Given the description of an element on the screen output the (x, y) to click on. 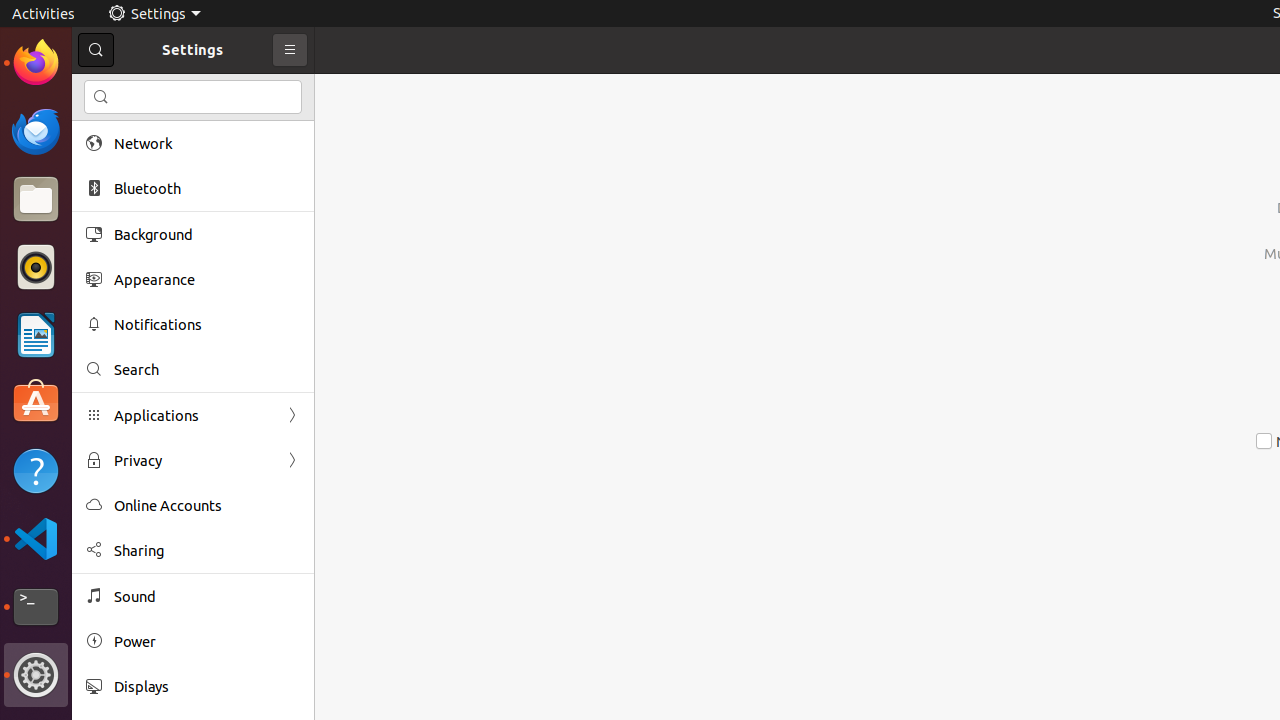
Notifications Element type: label (207, 324)
Search Element type: text (193, 97)
Bluetooth Element type: label (207, 188)
